Given the description of an element on the screen output the (x, y) to click on. 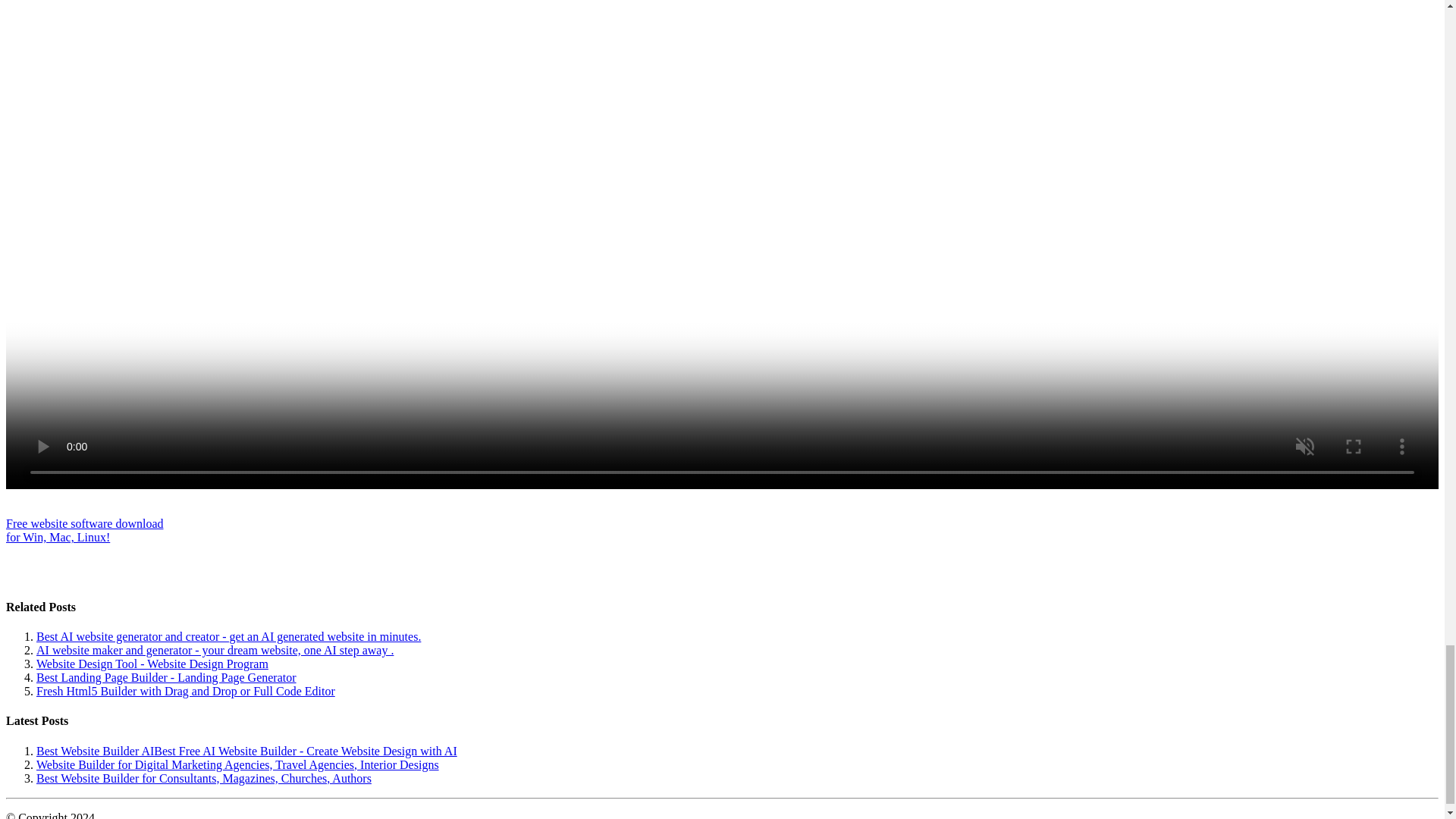
Best Landing Page Builder - Landing Page Generator (84, 529)
Website Design Tool - Website Design Program (166, 676)
Fresh Html5 Builder with Drag and Drop or Full Code Editor (151, 663)
